Given the description of an element on the screen output the (x, y) to click on. 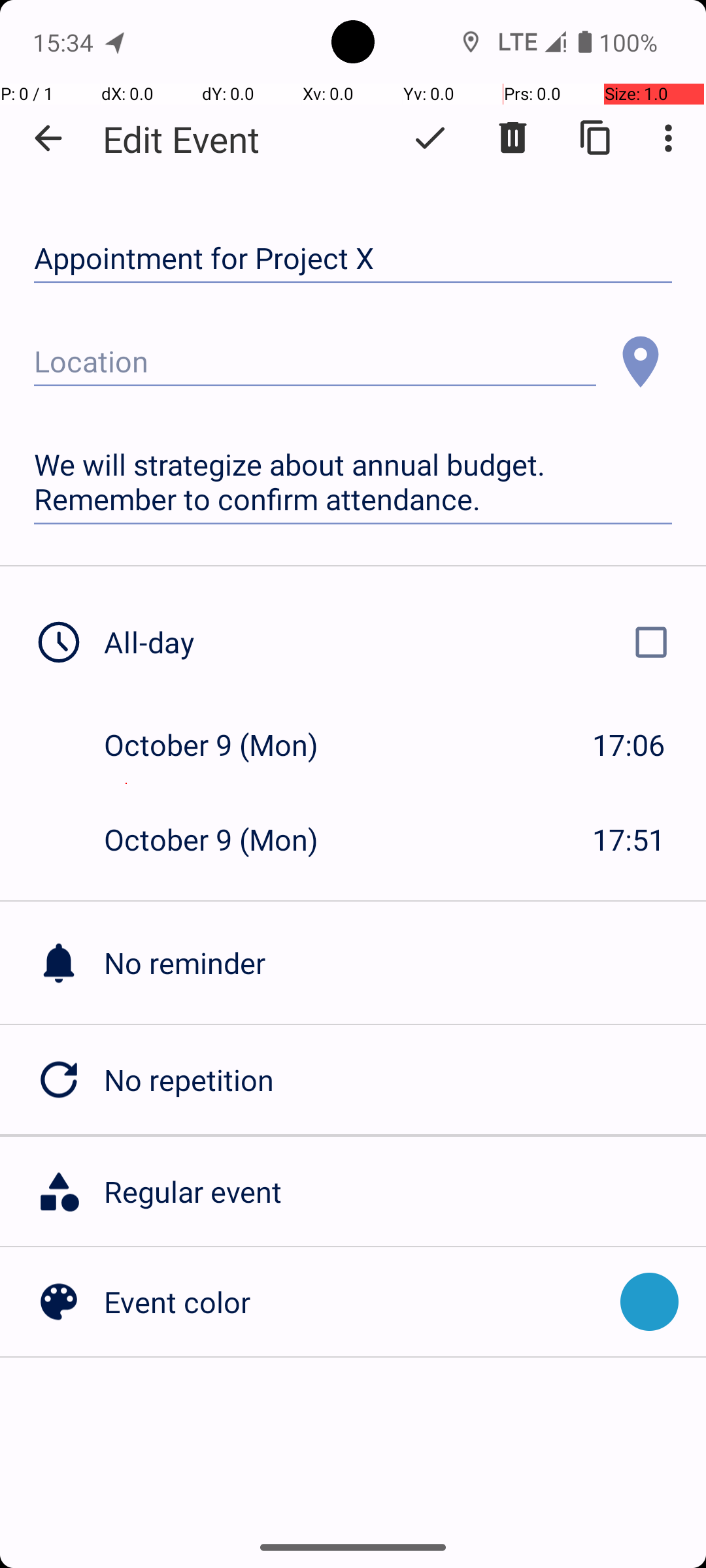
We will strategize about annual budget. Remember to confirm attendance. Element type: android.widget.EditText (352, 482)
October 9 (Mon) Element type: android.widget.TextView (224, 744)
17:06 Element type: android.widget.TextView (628, 744)
17:51 Element type: android.widget.TextView (628, 838)
